Given the description of an element on the screen output the (x, y) to click on. 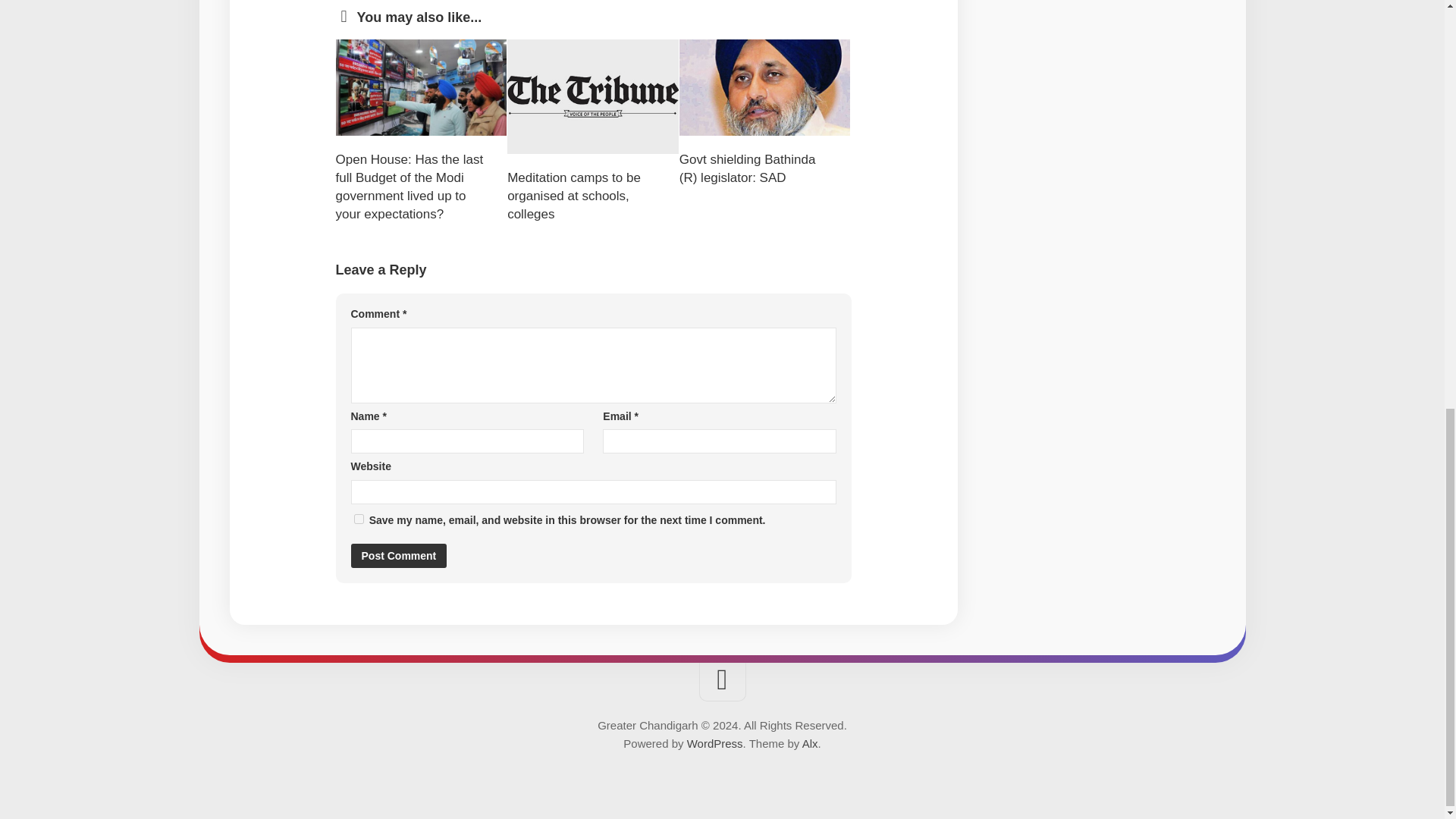
WordPress (714, 743)
Alx (810, 743)
Meditation camps to be organised at schools, colleges (573, 195)
Post Comment (398, 555)
Post Comment (398, 555)
yes (357, 519)
